Given the description of an element on the screen output the (x, y) to click on. 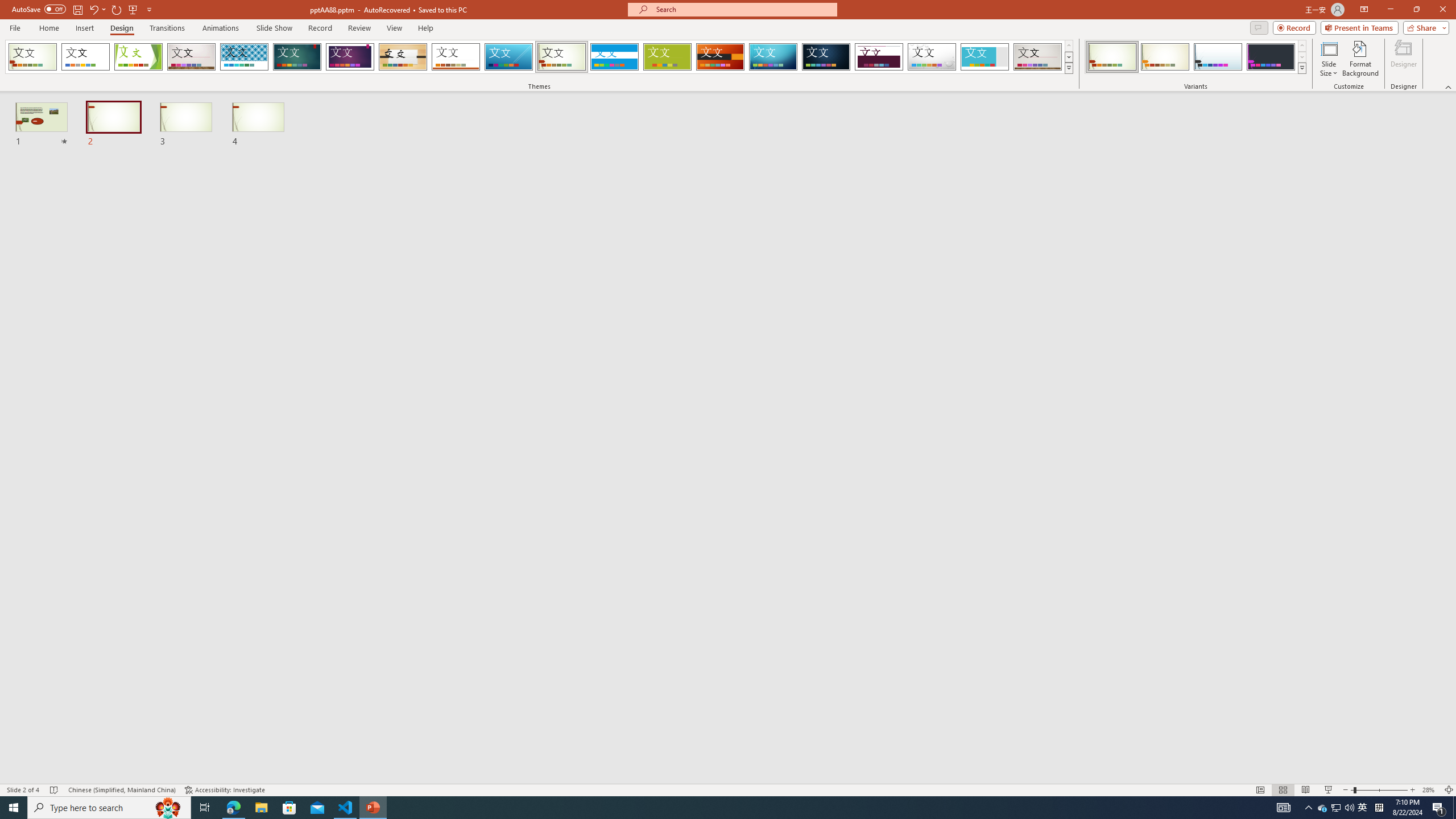
Gallery Loading Preview... (1037, 56)
AutomationID: SlideThemesGallery (539, 56)
Gallery (191, 56)
Wisp Variant 4 (1270, 56)
